Given the description of an element on the screen output the (x, y) to click on. 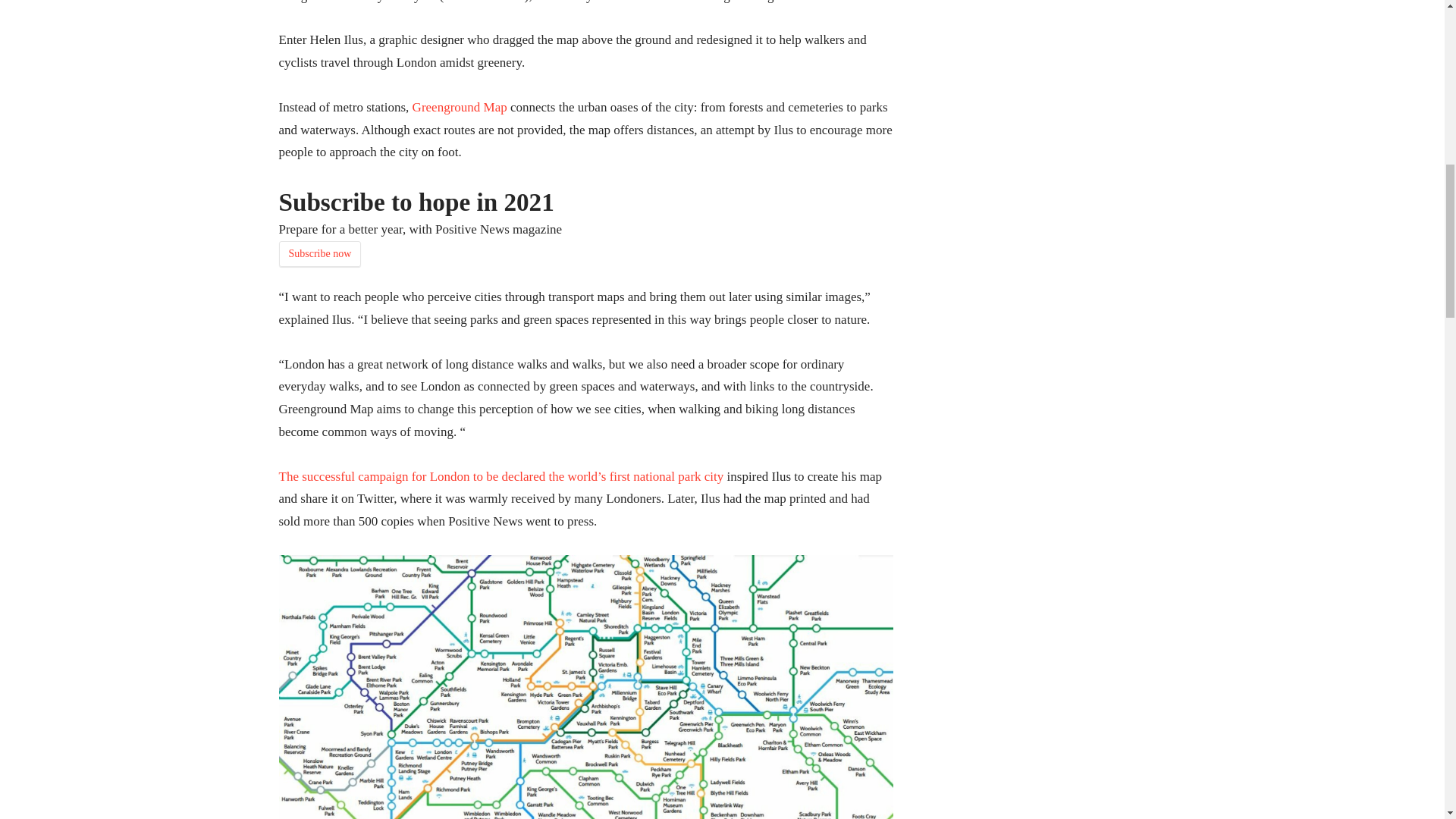
Subscribe now (320, 253)
Greenground Map (459, 106)
